Given the description of an element on the screen output the (x, y) to click on. 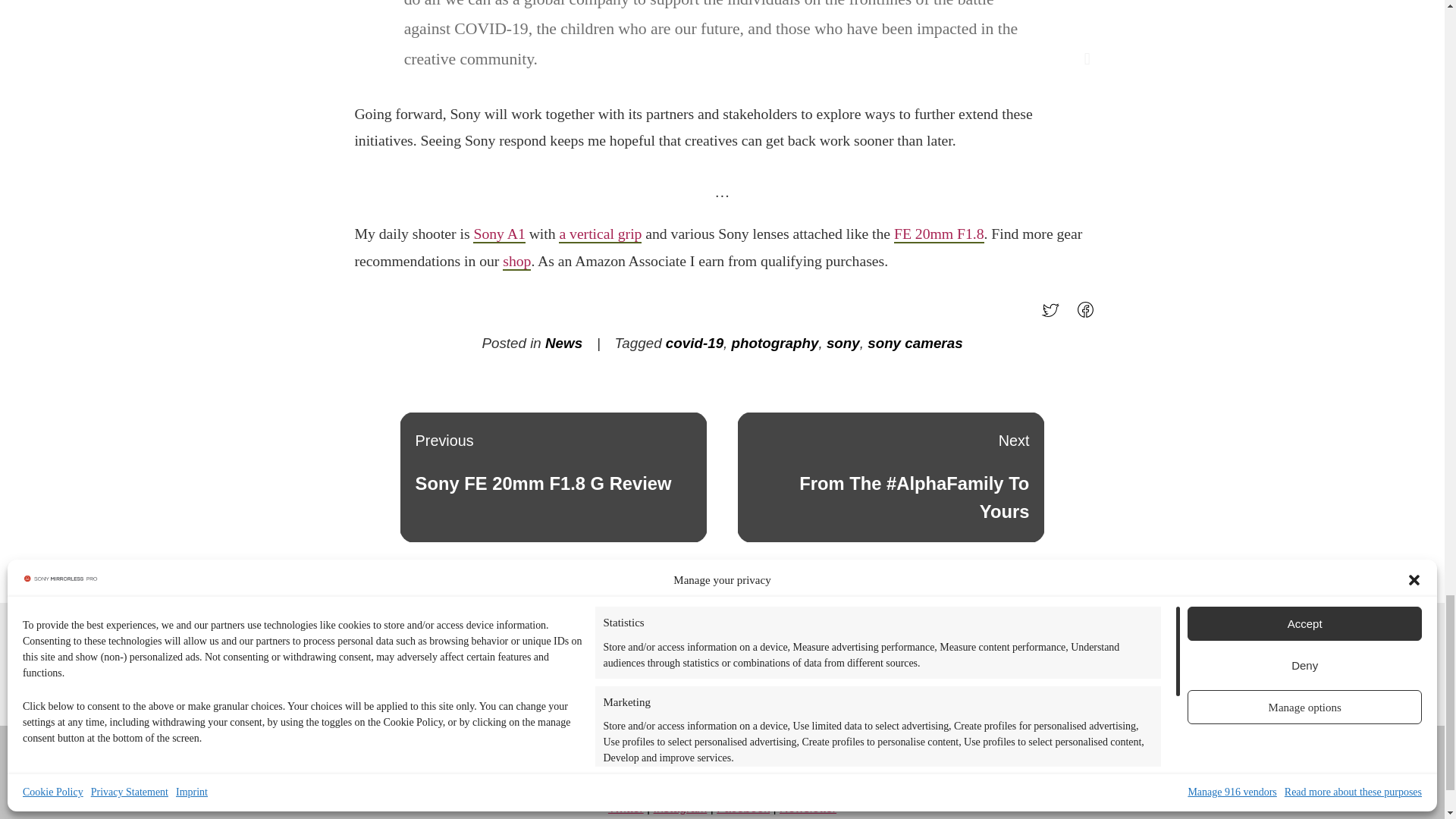
Share on Facebook (1089, 315)
Tweet (1054, 315)
